Given the description of an element on the screen output the (x, y) to click on. 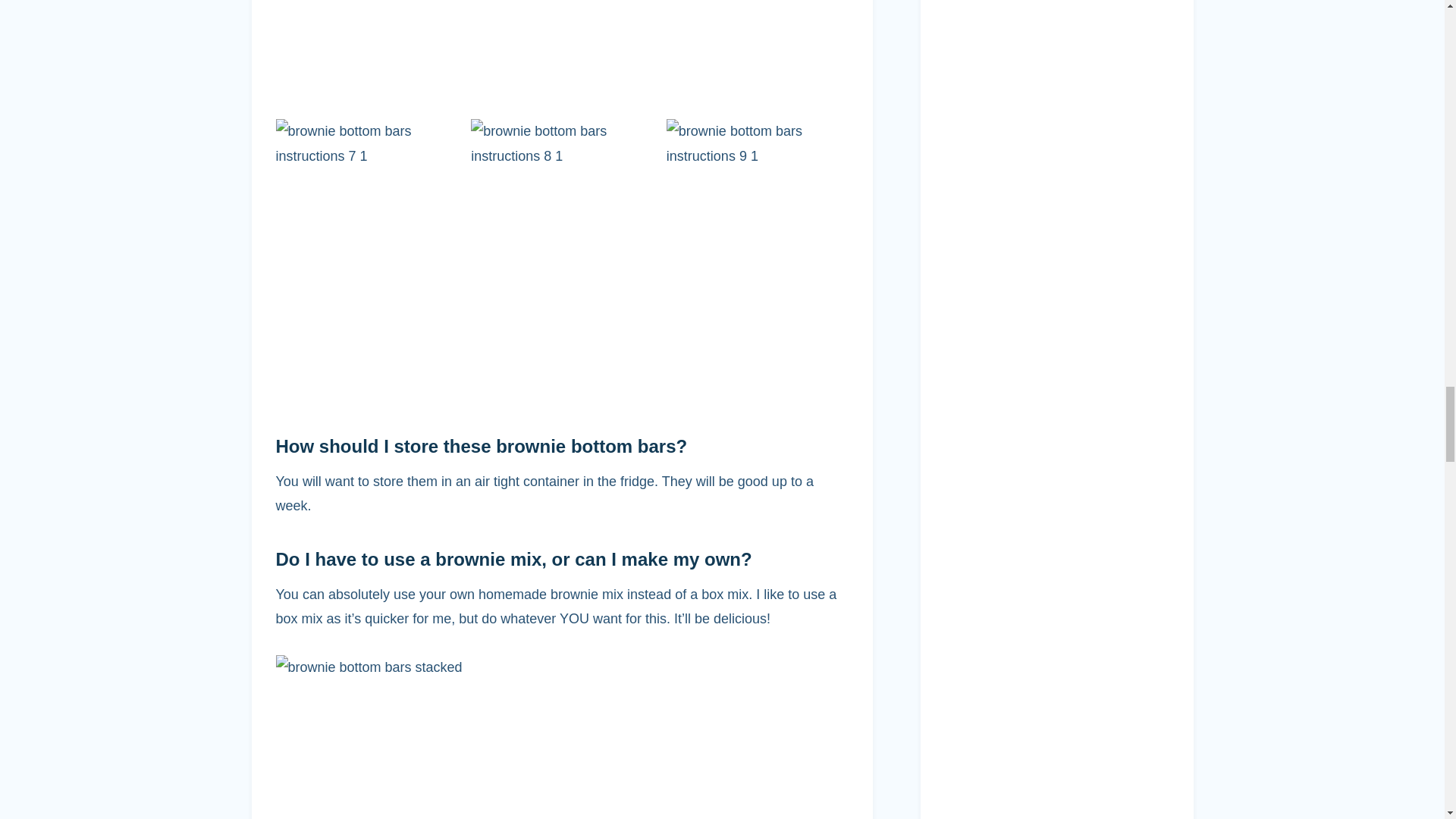
Brownie Bottom Bars 15 (367, 52)
